Given the description of an element on the screen output the (x, y) to click on. 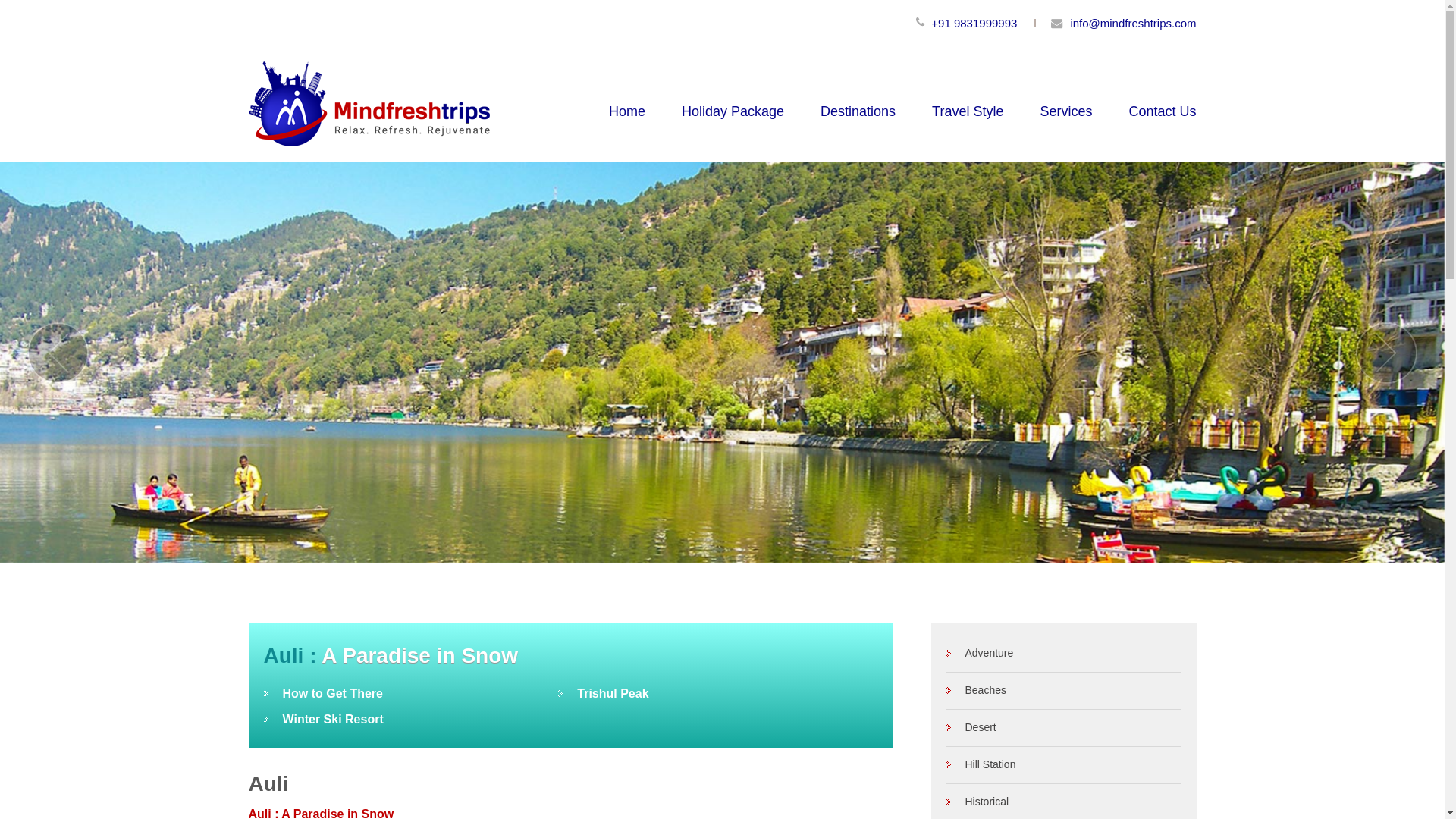
Beaches (976, 689)
Holiday Package (732, 114)
Contact Us (1161, 114)
Destinations (858, 114)
Desert (970, 727)
Adventure (979, 653)
Travel Style (967, 114)
Historical (977, 801)
Services (1065, 114)
Hill Station (981, 764)
Home (626, 114)
